Given the description of an element on the screen output the (x, y) to click on. 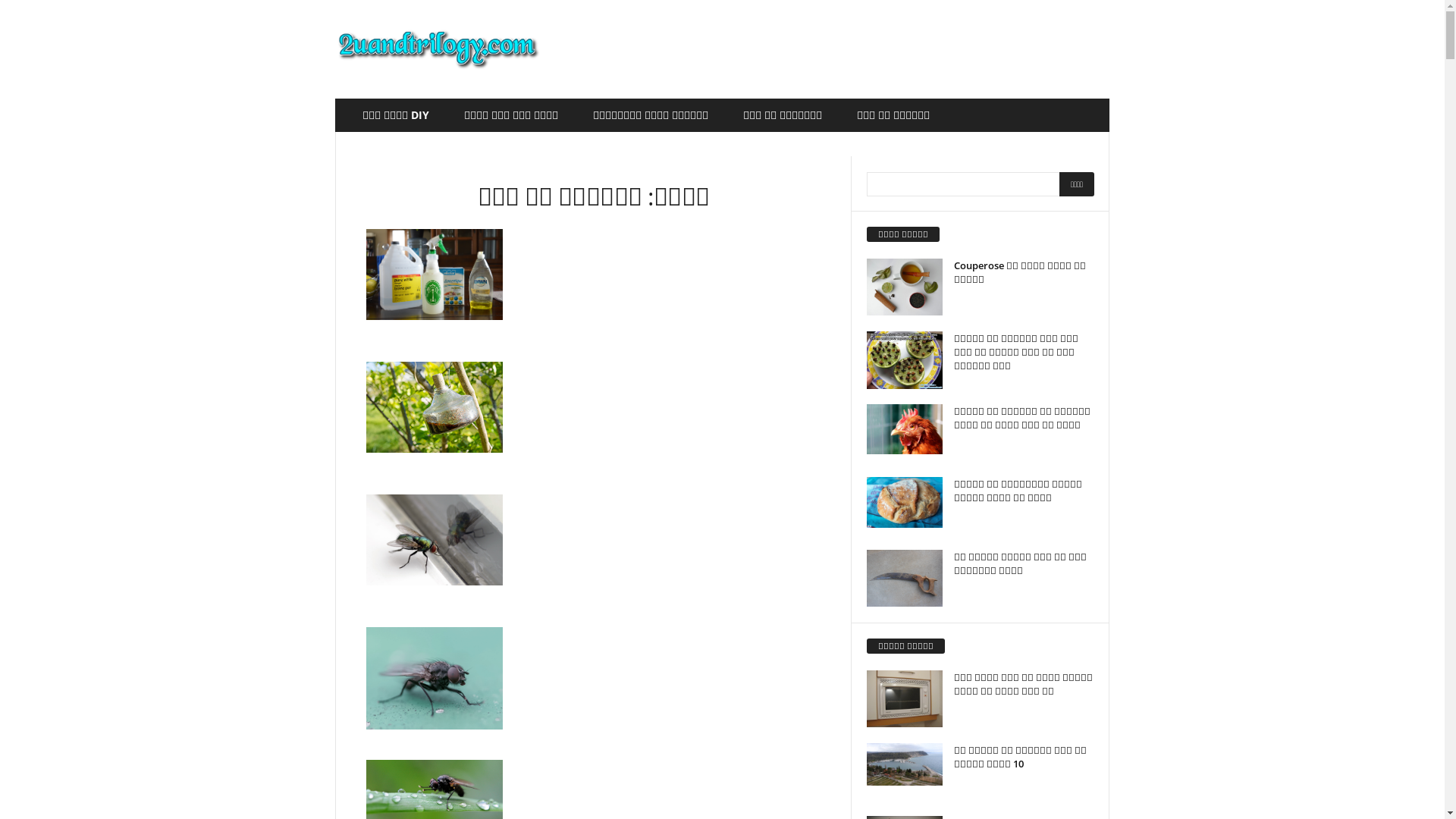
2uandtrilogy.com Element type: text (438, 49)
